Given the description of an element on the screen output the (x, y) to click on. 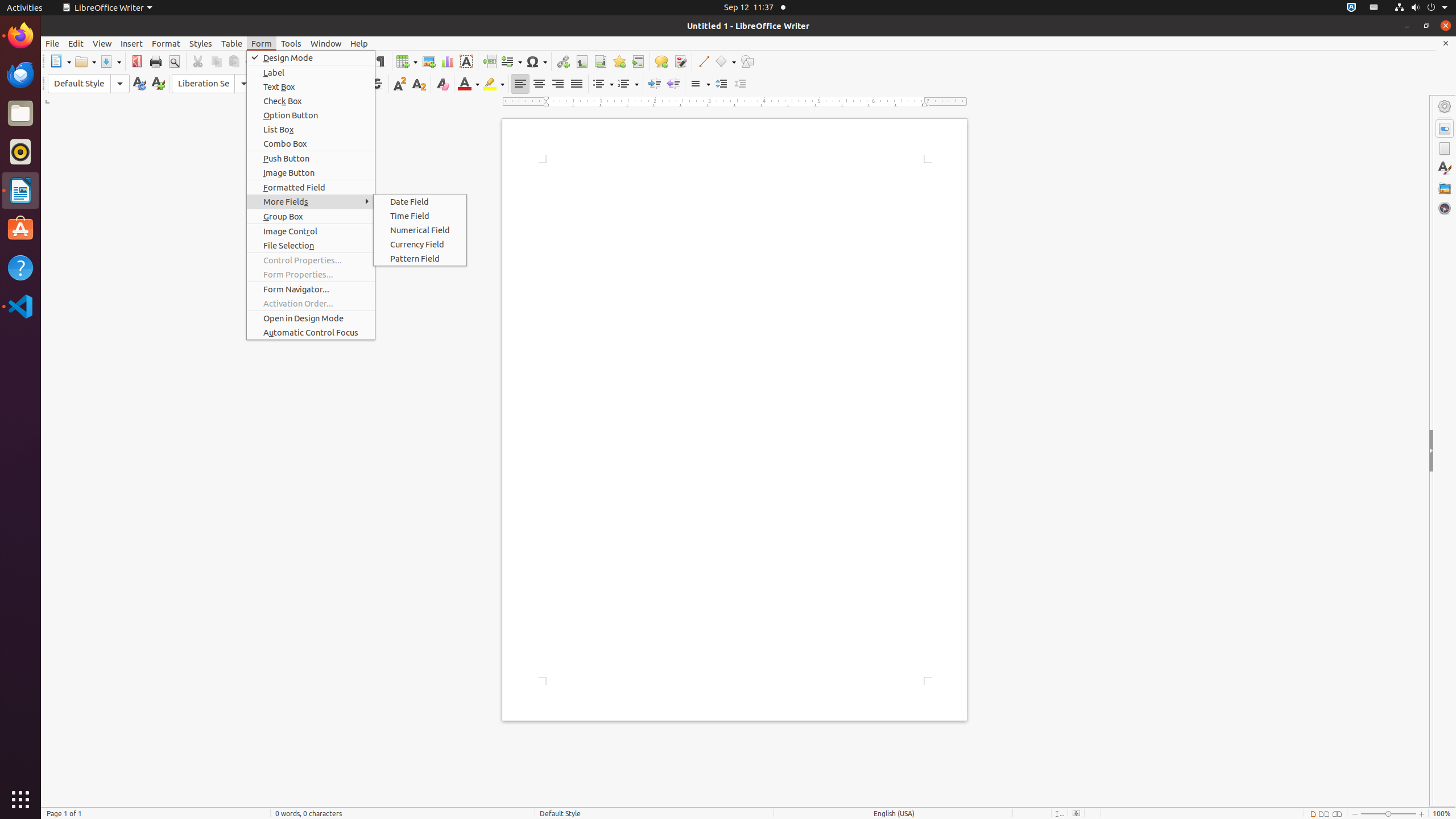
Spelling Element type: push-button (361, 61)
Help Element type: push-button (20, 267)
Image Control Element type: check-menu-item (310, 231)
Footnote Element type: push-button (581, 61)
Clone Element type: push-button (264, 61)
